Given the description of an element on the screen output the (x, y) to click on. 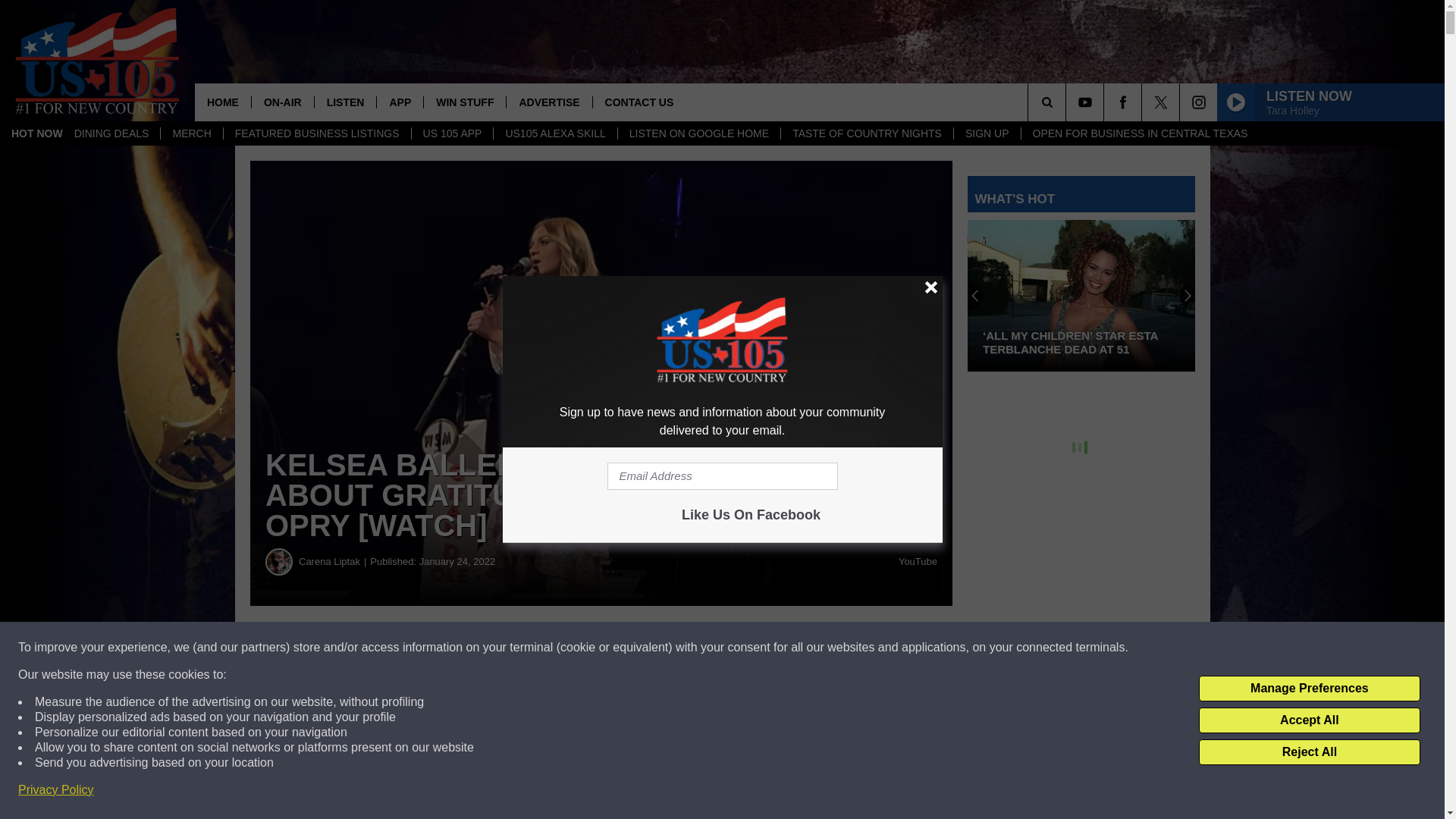
Share on Twitter (741, 647)
SEARCH (1068, 102)
Manage Preferences (1309, 688)
TASTE OF COUNTRY NIGHTS (866, 133)
ON-AIR (282, 102)
SEARCH (1068, 102)
HOME (222, 102)
MERCH (191, 133)
Accept All (1309, 720)
Privacy Policy (55, 789)
US 105 APP (451, 133)
US105 ALEXA SKILL (554, 133)
FEATURED BUSINESS LISTINGS (316, 133)
LISTEN ON GOOGLE HOME (698, 133)
Share on Facebook (460, 647)
